Given the description of an element on the screen output the (x, y) to click on. 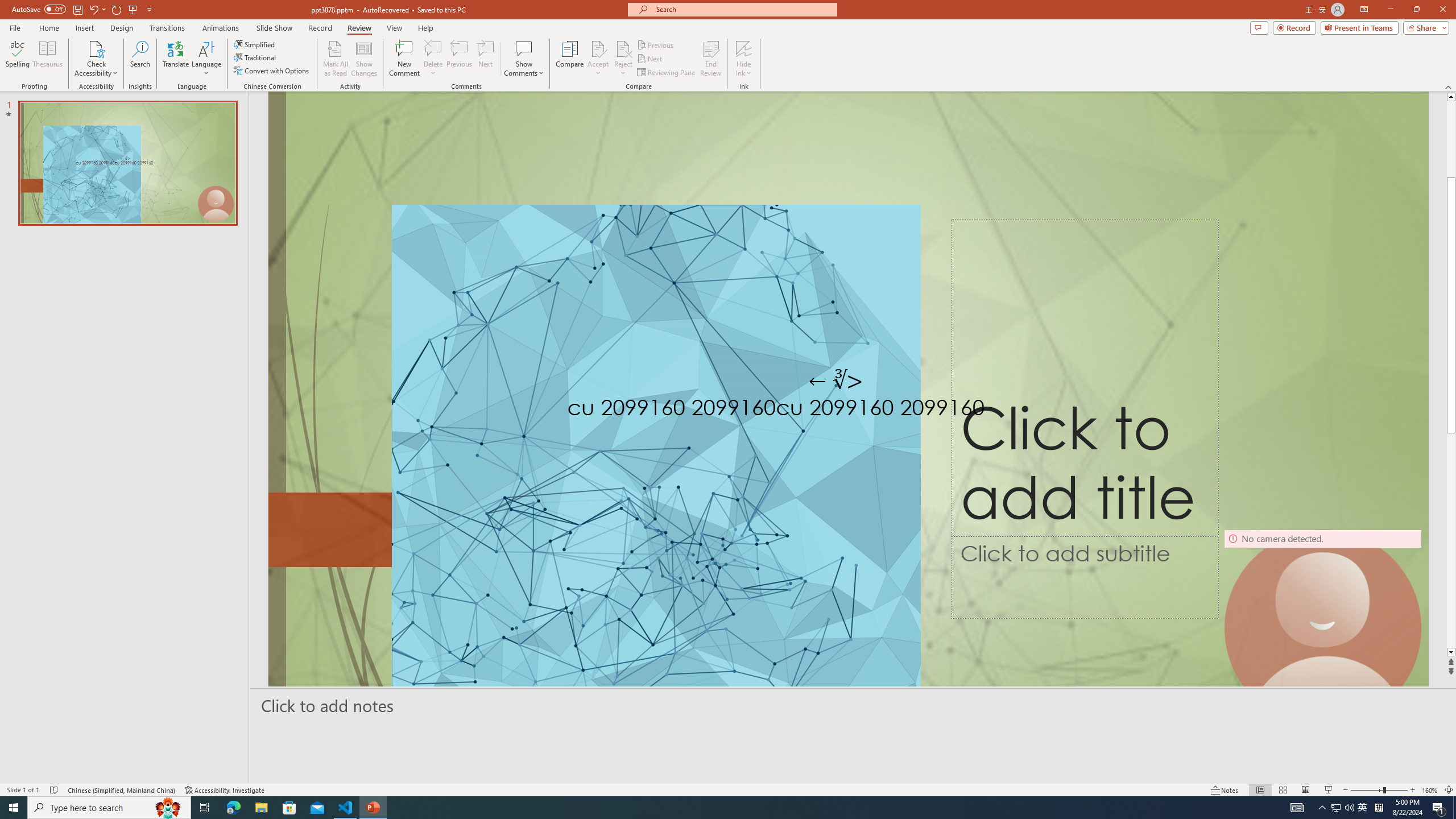
Slide (127, 163)
Comments (1259, 27)
TextBox 61 (845, 410)
Mark All as Read (335, 58)
Accessibility Checker Accessibility: Investigate (224, 790)
Minimize (1390, 9)
Review (359, 28)
Language (206, 58)
Show Comments (524, 58)
Slide Sorter (1282, 790)
Accept (598, 58)
